Given the description of an element on the screen output the (x, y) to click on. 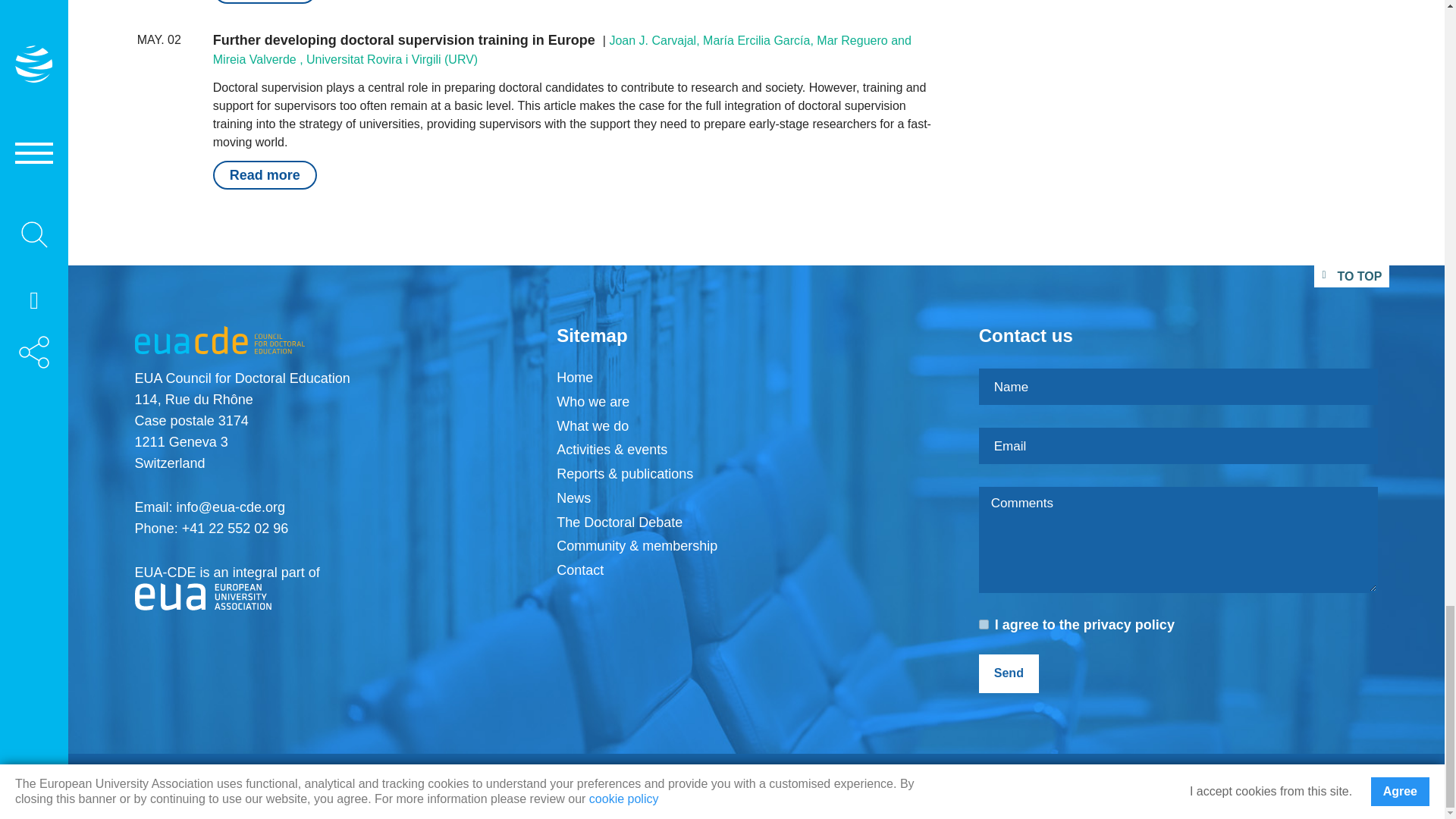
Send (1008, 673)
Home (574, 377)
TO TOP (1351, 276)
Read more (264, 2)
Further developing doctoral supervision training in Europe (403, 39)
TO TOP (1351, 276)
Read more (264, 174)
